Given the description of an element on the screen output the (x, y) to click on. 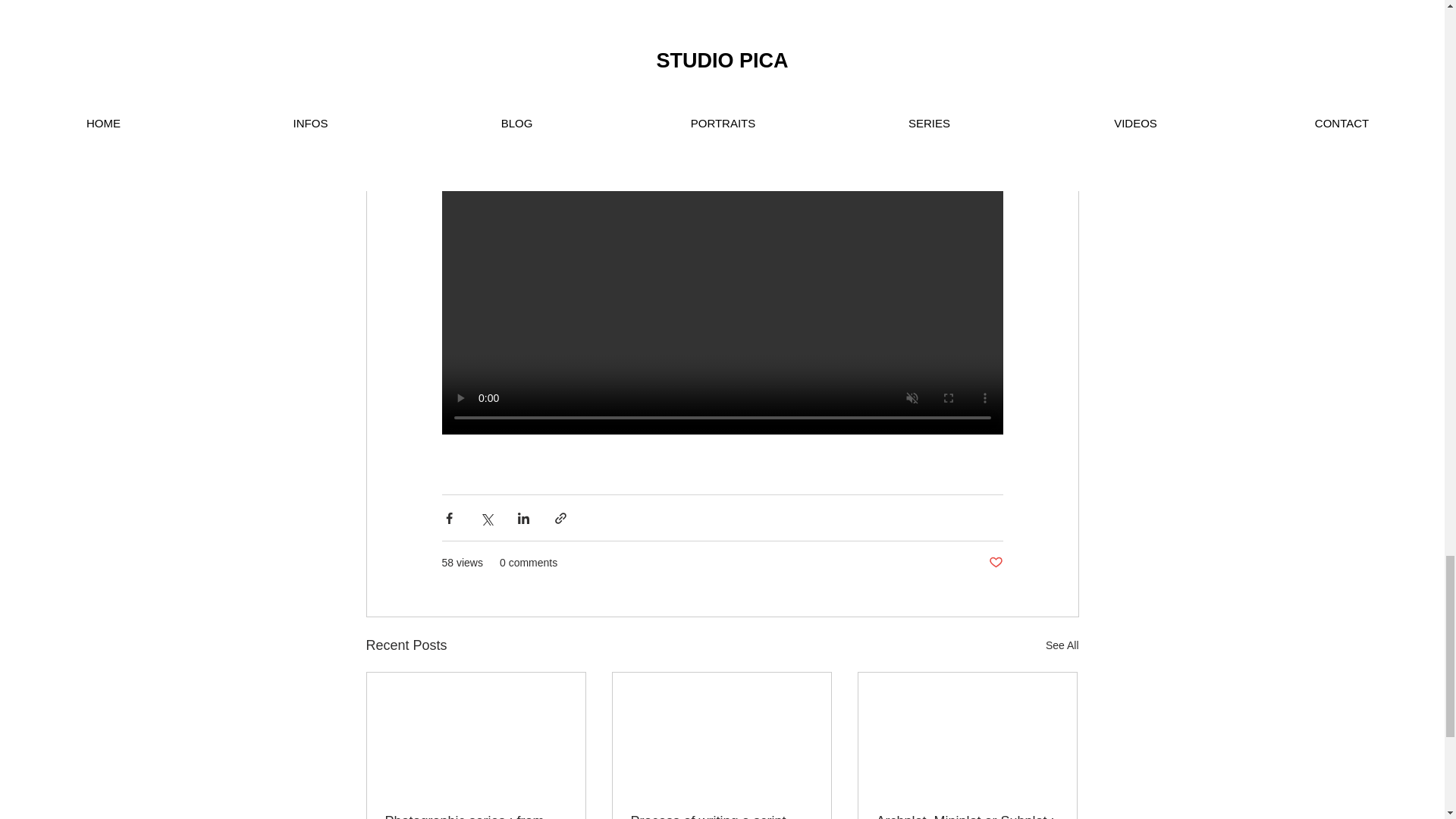
Photographic series : from topic research to publication (476, 816)
Post not marked as liked (995, 562)
See All (1061, 645)
